Given the description of an element on the screen output the (x, y) to click on. 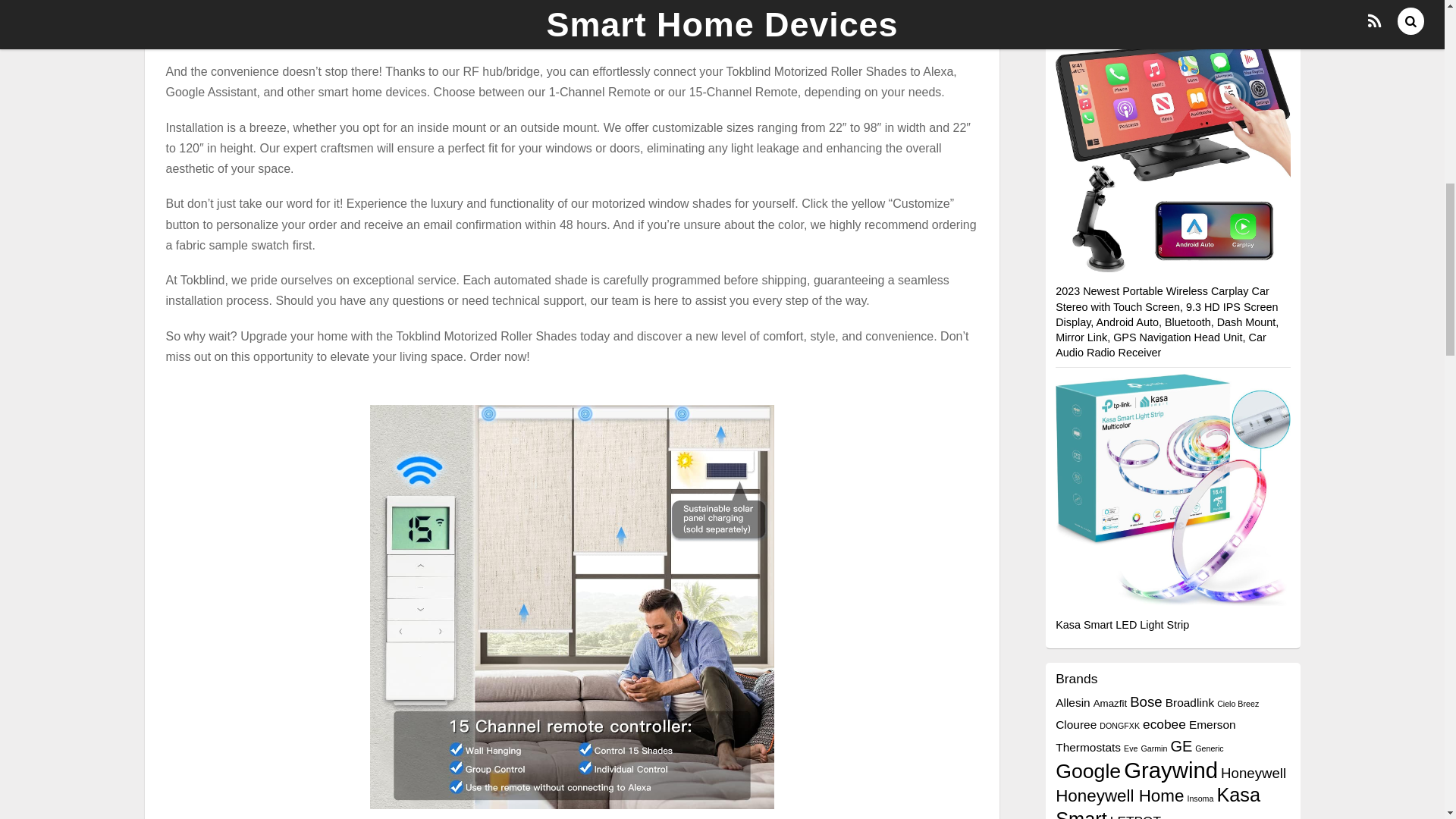
Kasa Smart (1157, 801)
Garmin (1153, 747)
Broadlink (1190, 702)
Insoma (1199, 798)
Bose (1145, 701)
ecobee (1164, 724)
Clouree (1075, 724)
Honeywell Home (1119, 795)
Cielo Breez (1238, 703)
Allesin (1072, 702)
Kasa Smart LED Light Strip (1122, 624)
Amazfit (1109, 703)
Generic (1209, 747)
Google (1088, 771)
